Given the description of an element on the screen output the (x, y) to click on. 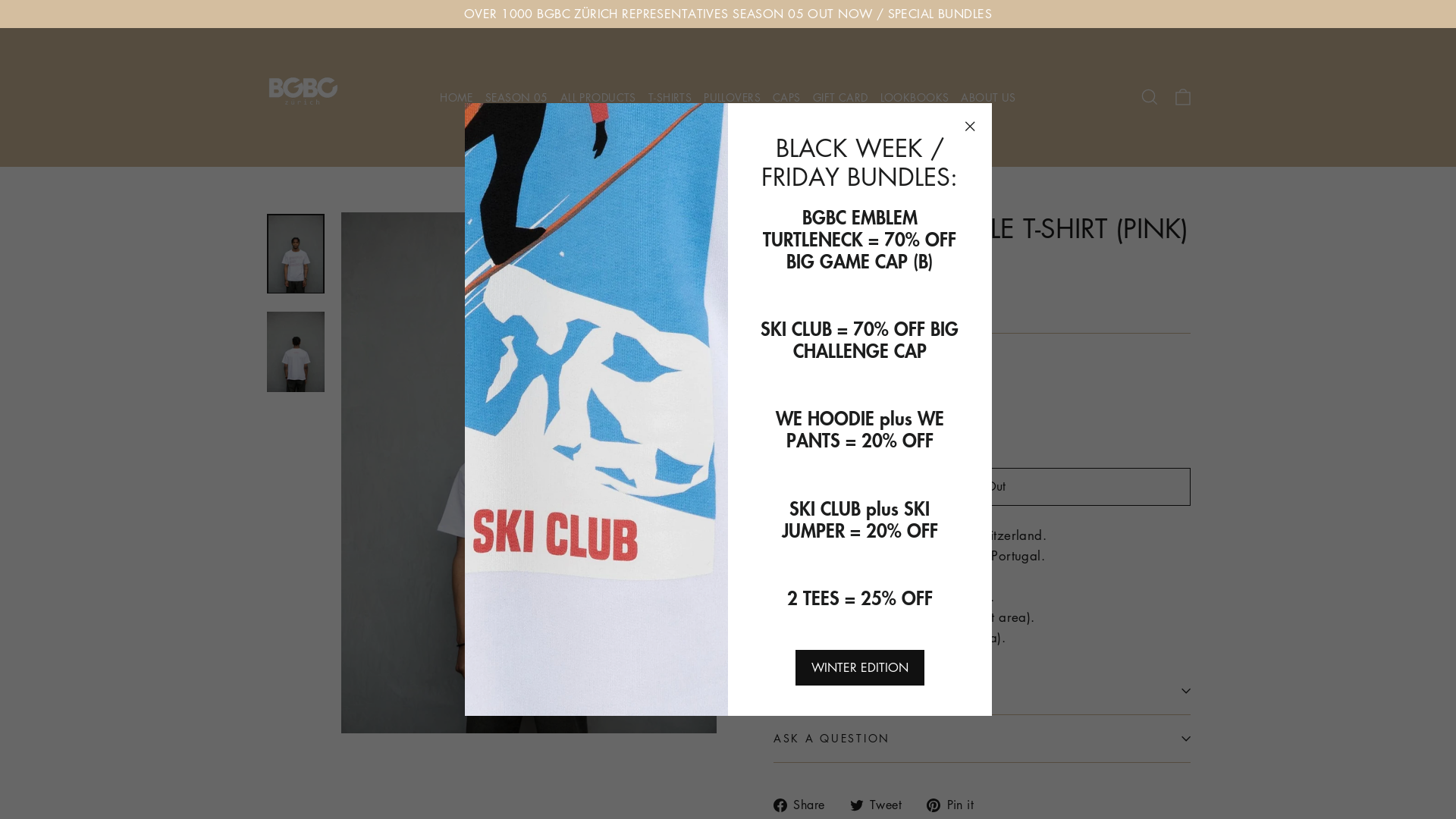
Sold Out Element type: text (981, 486)
"Close (esc)" Element type: text (969, 125)
ALL PRODUCTS Element type: text (598, 96)
PULLOVERS Element type: text (731, 96)
LOOKBOOKS Element type: text (914, 96)
SEASON 05 Element type: text (516, 96)
WINTER EDITION Element type: text (859, 667)
Cart Element type: text (1182, 96)
ABOUT US Element type: text (987, 96)
HOME Element type: text (456, 96)
SHIPPING INFORMATION Element type: text (981, 690)
Share
Share on Facebook Element type: text (804, 804)
GIFT CARD Element type: text (840, 96)
Tweet
Tweet on Twitter Element type: text (881, 804)
Pin it
Pin on Pinterest Element type: text (955, 804)
T-SHIRTS Element type: text (669, 96)
ASK A QUESTION Element type: text (981, 738)
Search Element type: text (1149, 96)
CAPS Element type: text (786, 96)
